Given the description of an element on the screen output the (x, y) to click on. 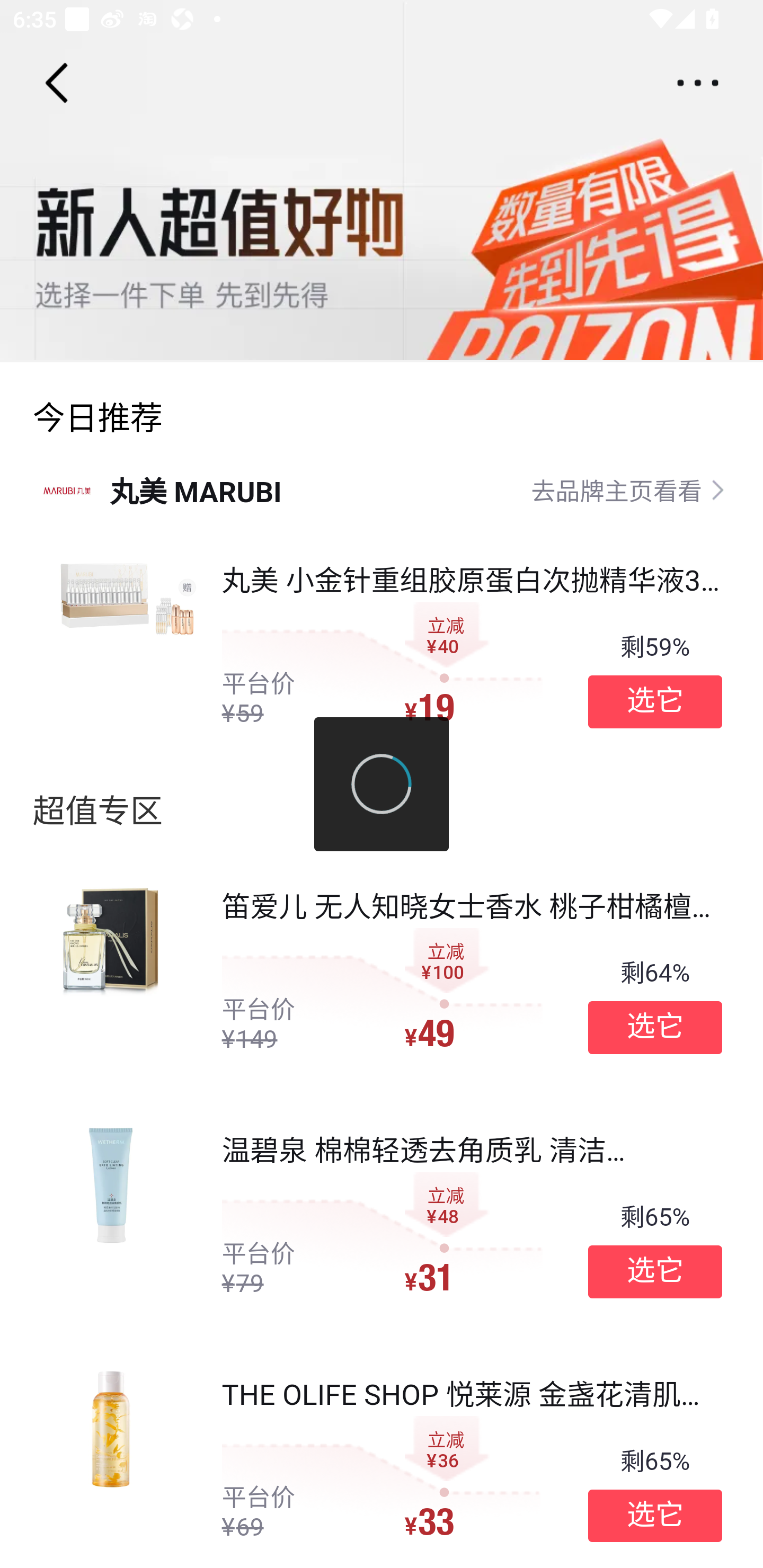
丸美 MARUBI去品牌主页看看 (381, 489)
选它 (654, 701)
选它 (654, 1027)
选它 (654, 1271)
选它 (654, 1515)
